Given the description of an element on the screen output the (x, y) to click on. 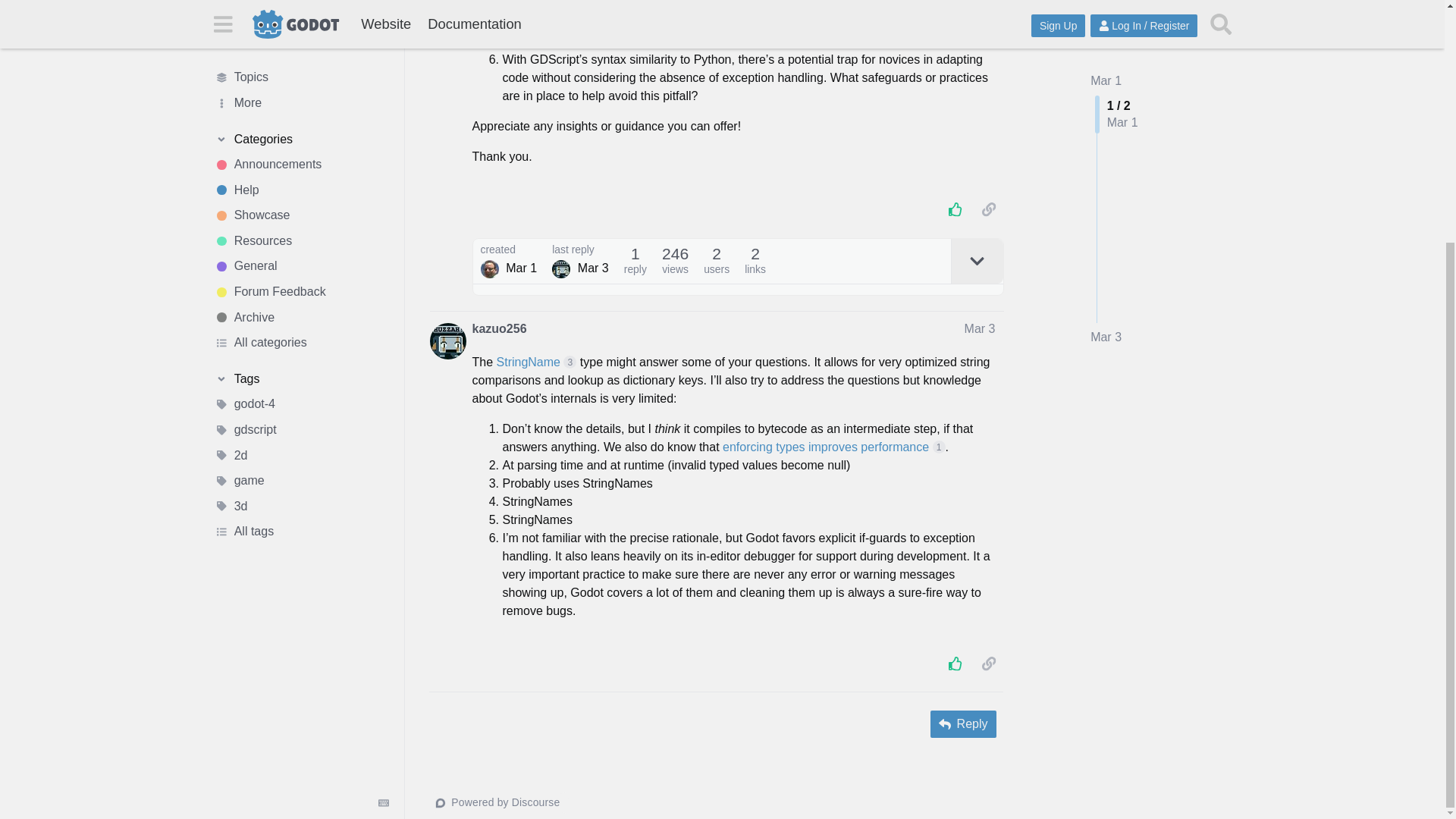
Mar 3 (1105, 48)
godot-4 (301, 69)
2d (301, 120)
All tags (301, 196)
Toggle section (301, 44)
All categories (301, 10)
game (301, 145)
Tags (301, 44)
3d (301, 171)
gdscript (301, 94)
